Given the description of an element on the screen output the (x, y) to click on. 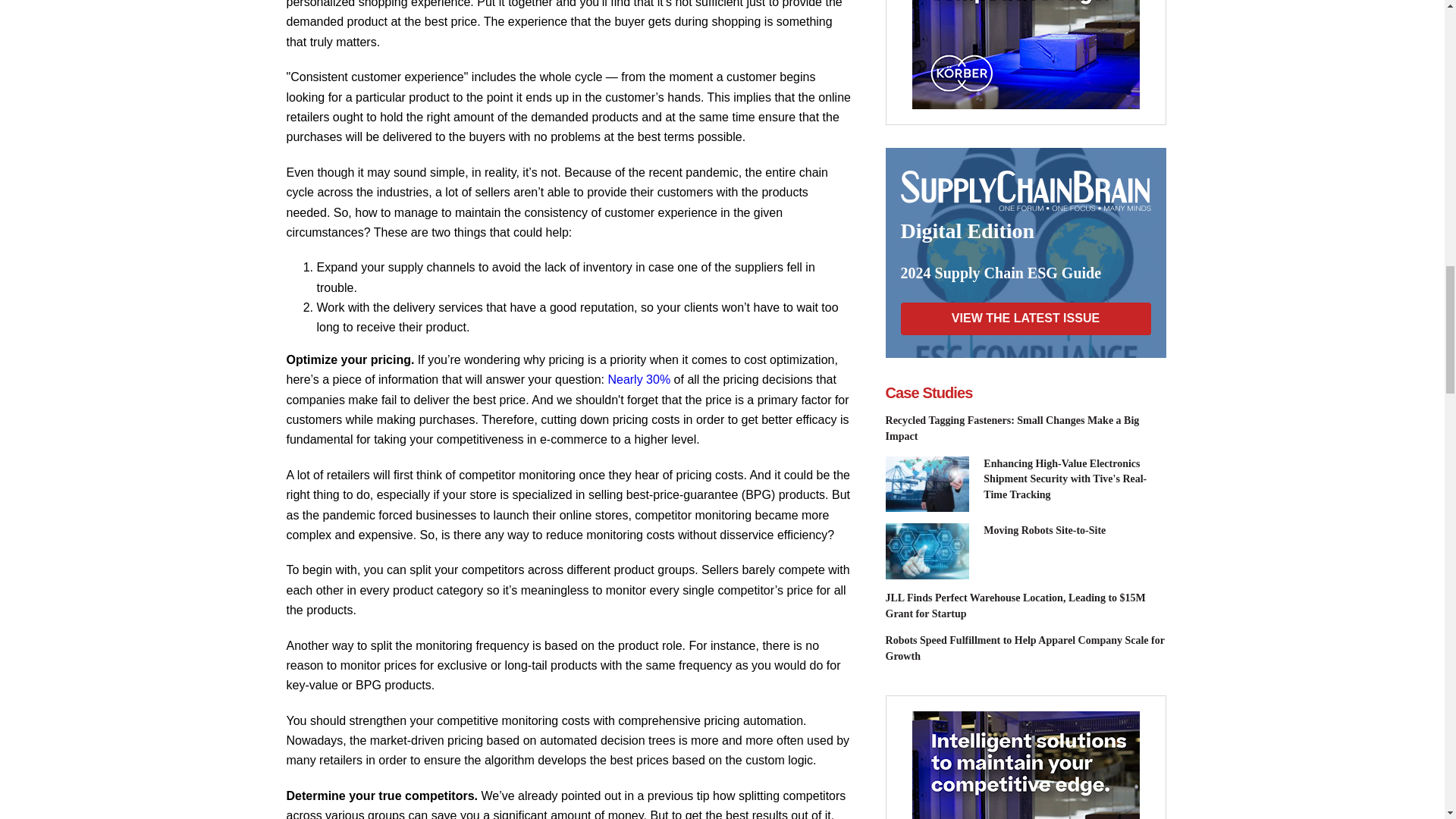
Korber-AI-300x250-2.jpg (1024, 765)
Korber-AI-300x250-1.jpg (1024, 54)
P66 EXOTEC.jpg (927, 551)
P65 TIVE.jpg (927, 484)
